Given the description of an element on the screen output the (x, y) to click on. 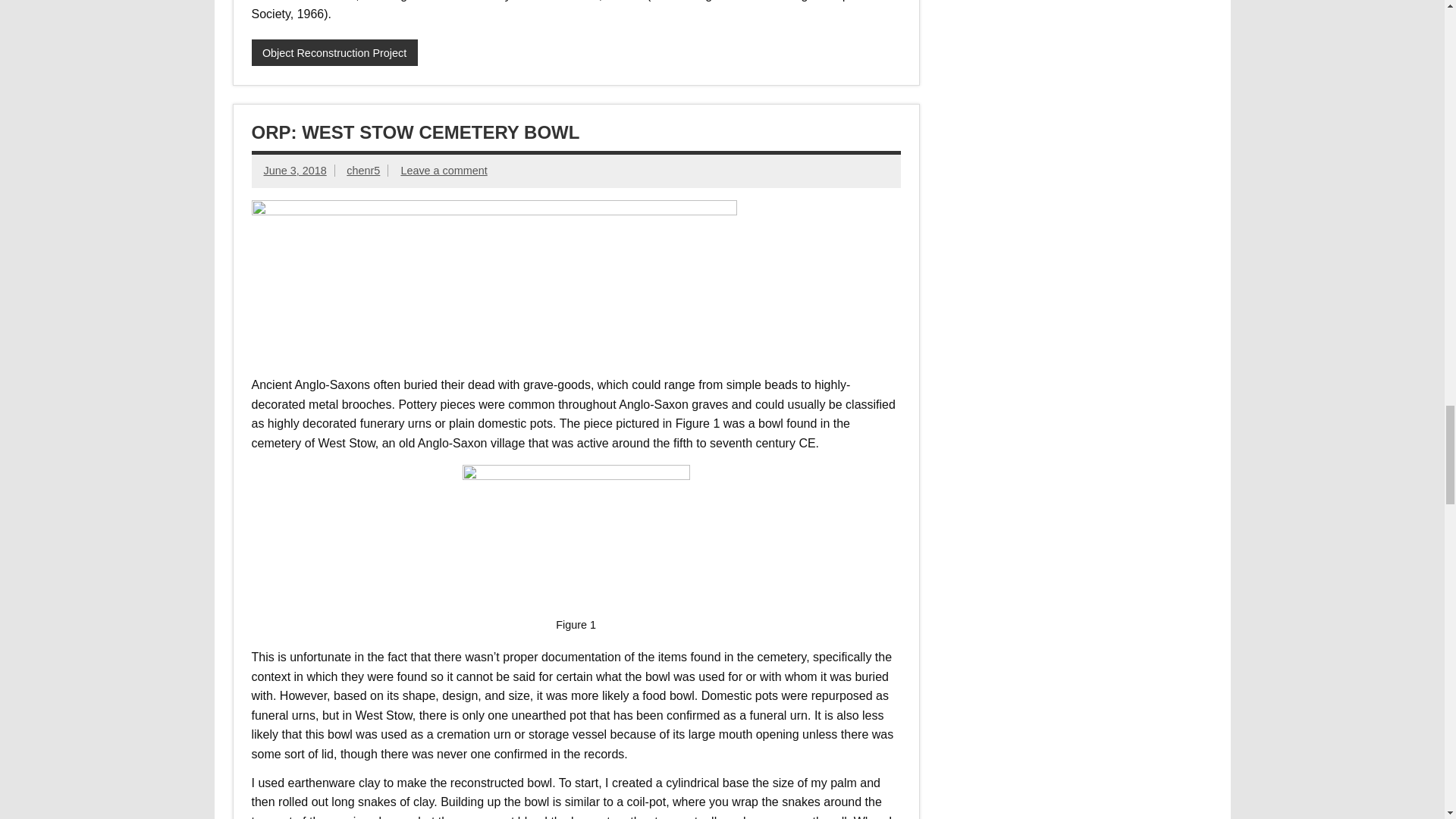
2:14 am (294, 170)
View all posts by chenr5 (363, 170)
chenr5 (363, 170)
Leave a comment (443, 170)
ORP: WEST STOW CEMETERY BOWL (415, 132)
Object Reconstruction Project (334, 52)
June 3, 2018 (294, 170)
